Given the description of an element on the screen output the (x, y) to click on. 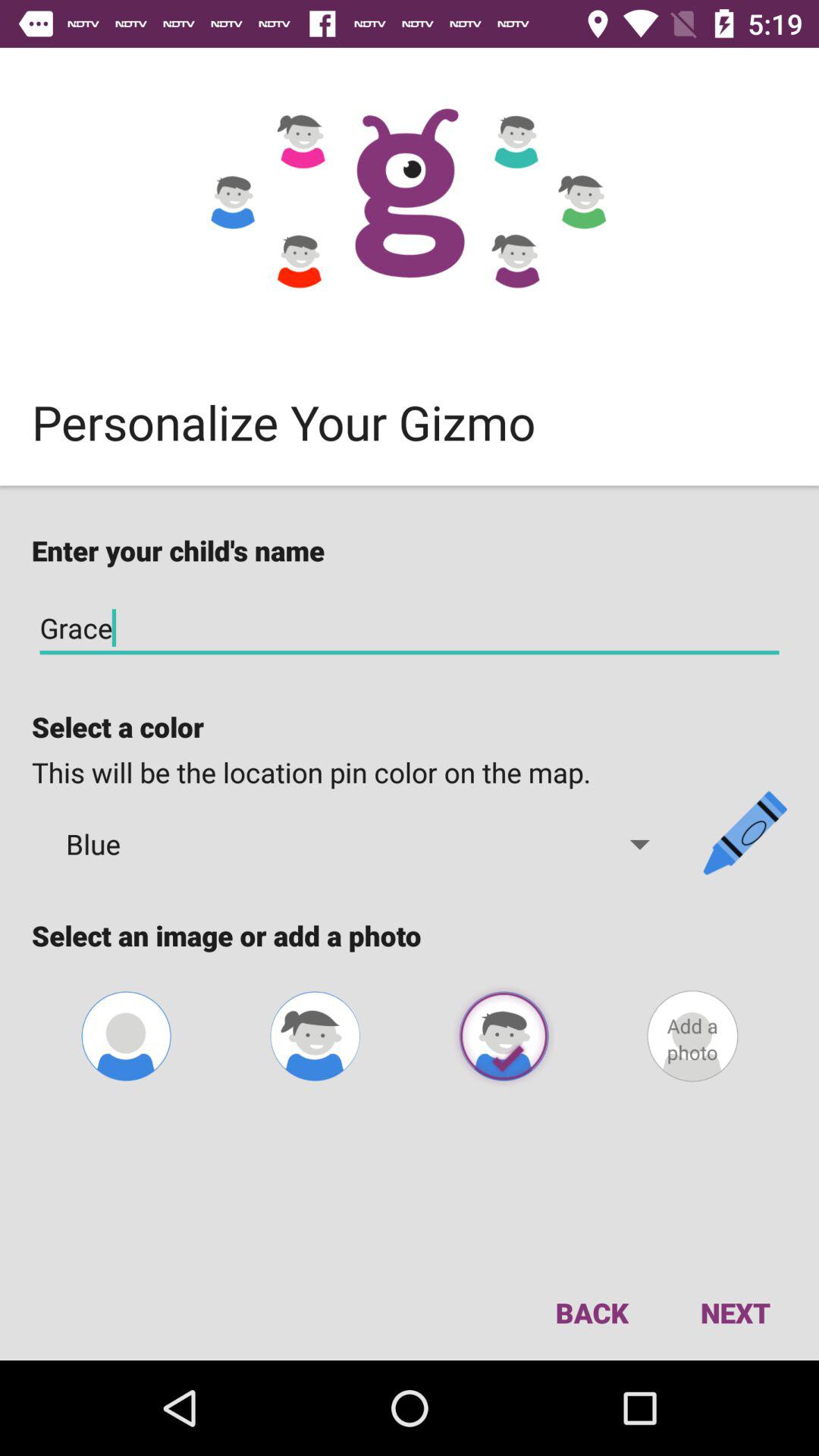
input the photo page (692, 1036)
